Given the description of an element on the screen output the (x, y) to click on. 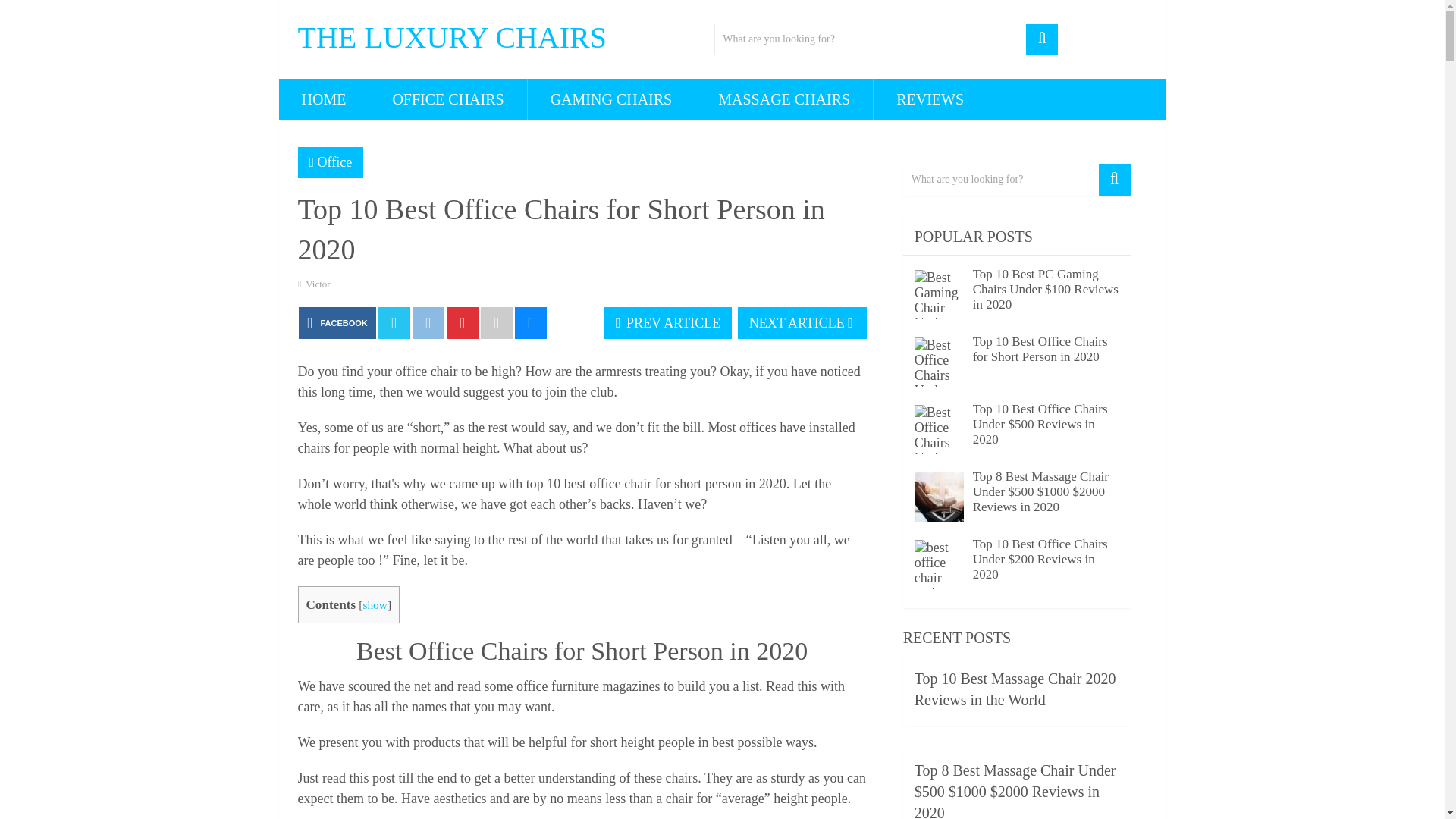
OFFICE CHAIRS (447, 98)
show (374, 604)
THE LUXURY CHAIRS (451, 37)
HOME (324, 98)
FACEBOOK (336, 323)
MASSAGE CHAIRS (783, 98)
Victor (317, 283)
NEXT ARTICLE (802, 323)
REVIEWS (930, 98)
Office (334, 161)
View all posts in Office (334, 161)
Posts by Victor (317, 283)
PREV ARTICLE (668, 323)
